Given the description of an element on the screen output the (x, y) to click on. 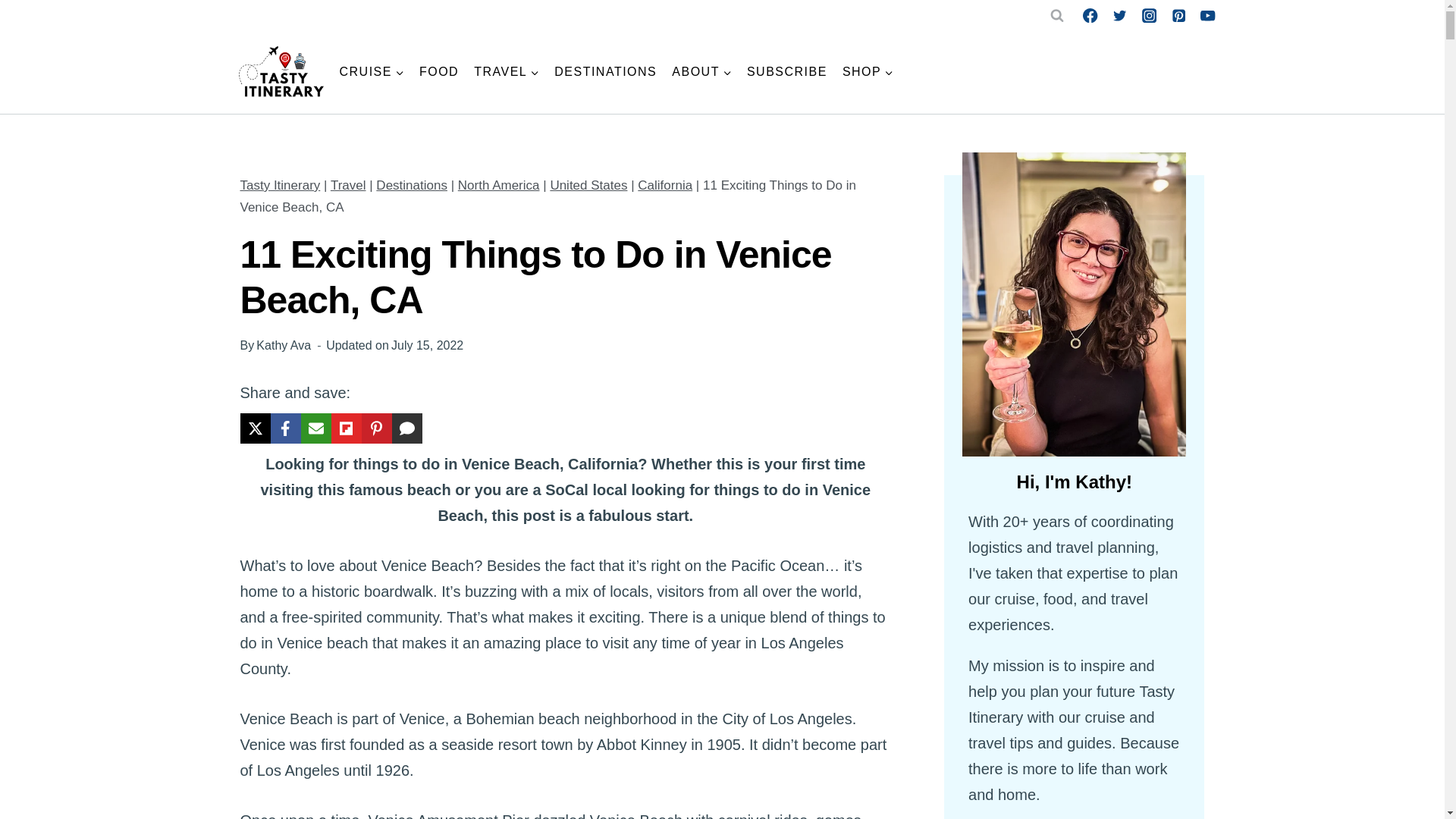
FOOD (438, 71)
DESTINATIONS (605, 71)
CRUISE (371, 71)
ABOUT (701, 71)
SHOP (867, 71)
SUBSCRIBE (786, 71)
TRAVEL (506, 71)
